Given the description of an element on the screen output the (x, y) to click on. 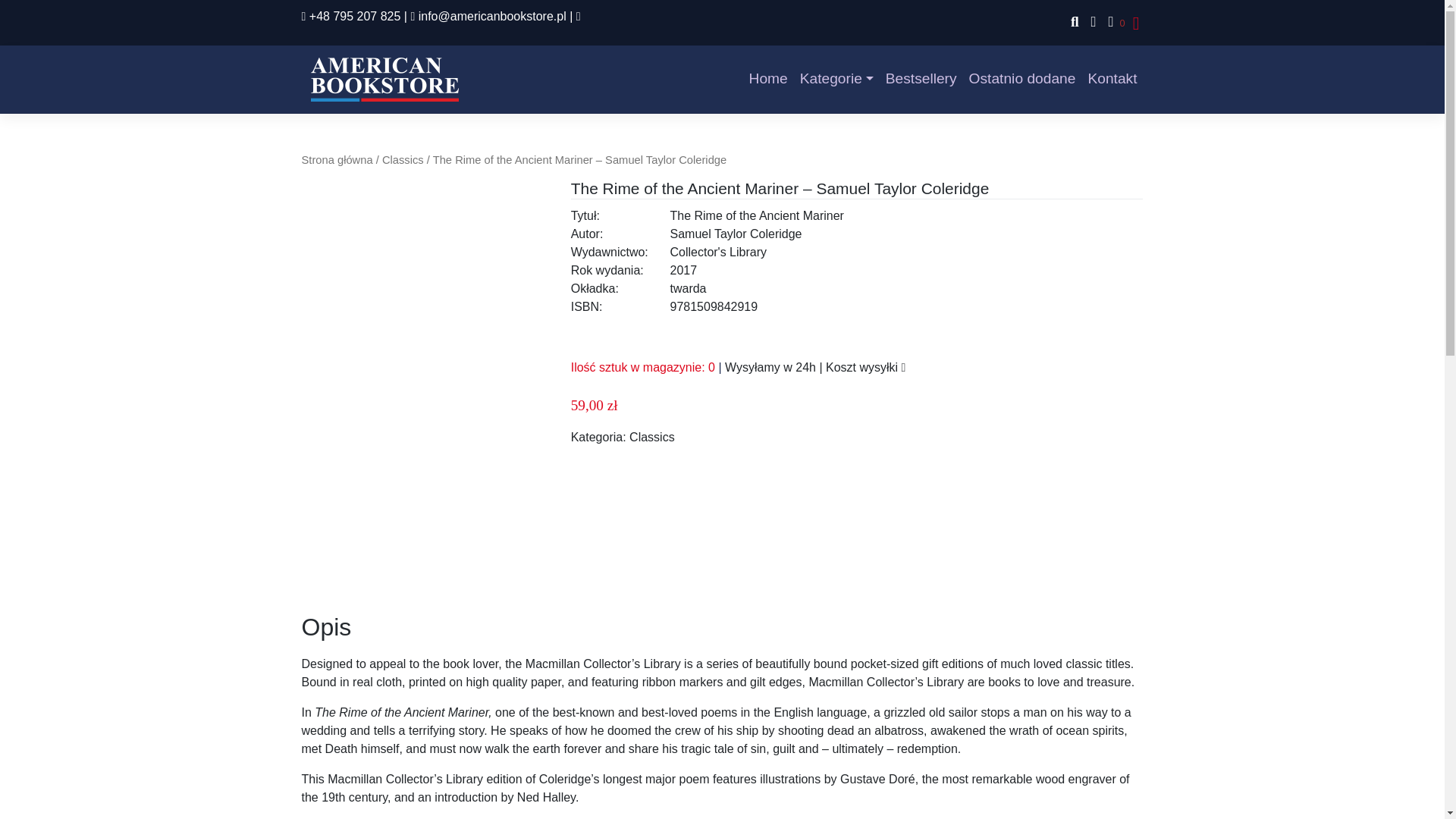
Home (767, 79)
0 (1113, 22)
Home (767, 79)
Kategorie (836, 79)
Kategorie (836, 79)
